Given the description of an element on the screen output the (x, y) to click on. 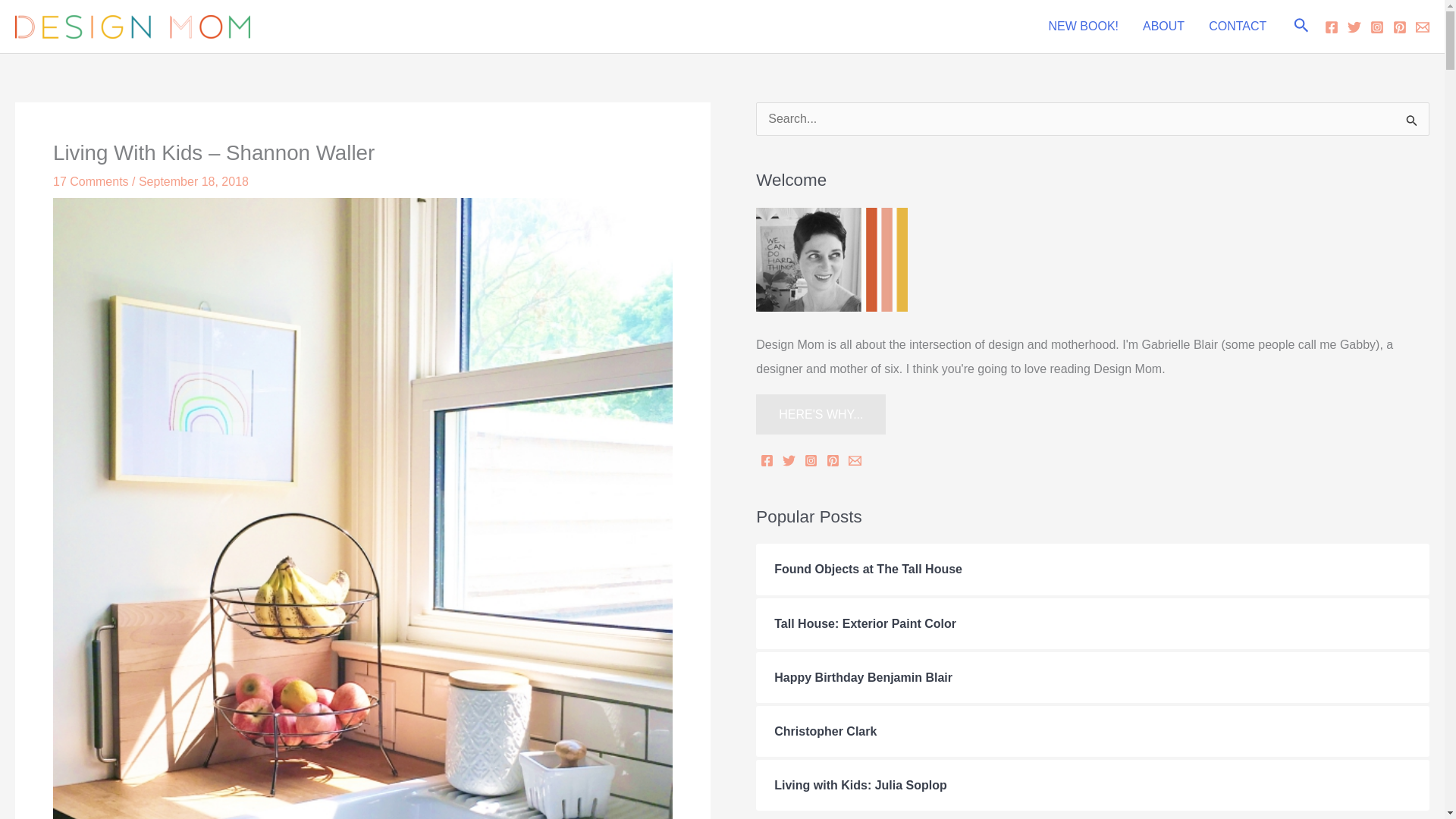
ABOUT (1163, 26)
Search (1411, 123)
Search (1411, 123)
NEW BOOK! (1083, 26)
Search (1301, 26)
17 Comments (90, 181)
CONTACT (1237, 26)
